Given the description of an element on the screen output the (x, y) to click on. 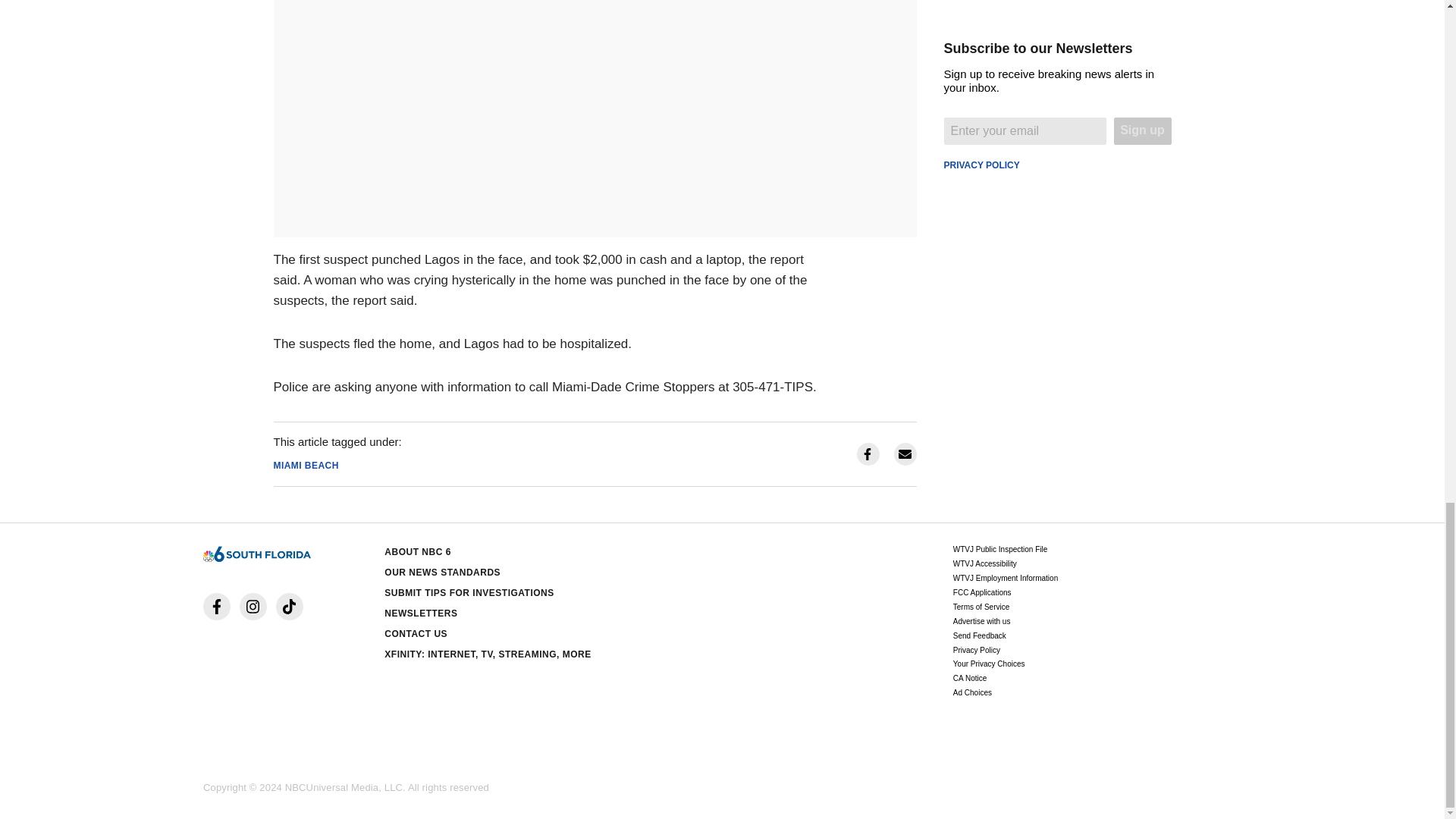
MIAMI BEACH (305, 465)
3rd party ad content (1056, 120)
